Given the description of an element on the screen output the (x, y) to click on. 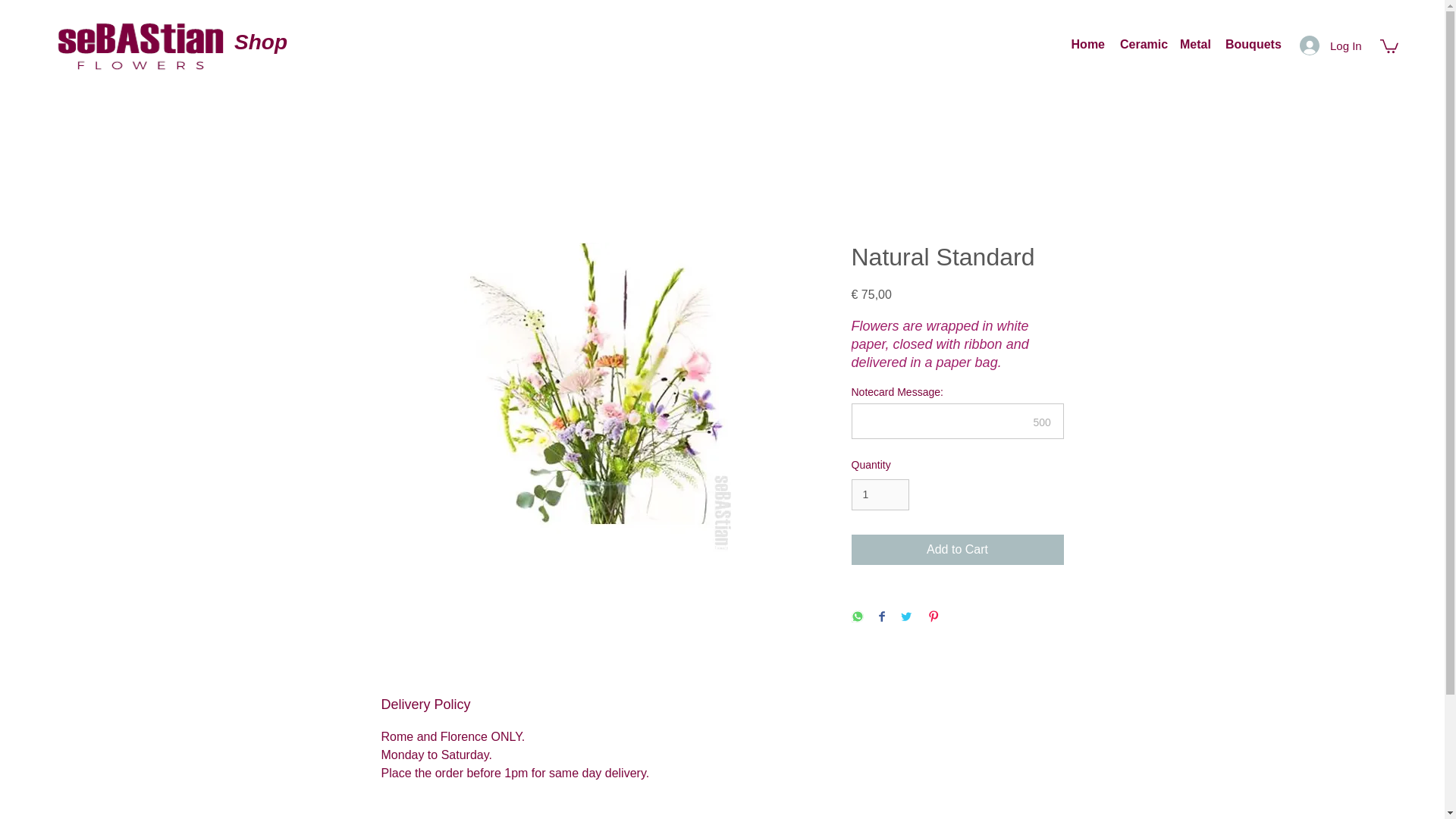
Metal (1194, 44)
Ceramic (1142, 44)
Home (1087, 44)
Bouquets (1251, 44)
Add to Cart (956, 548)
Log In (1319, 45)
1 (879, 494)
